Given the description of an element on the screen output the (x, y) to click on. 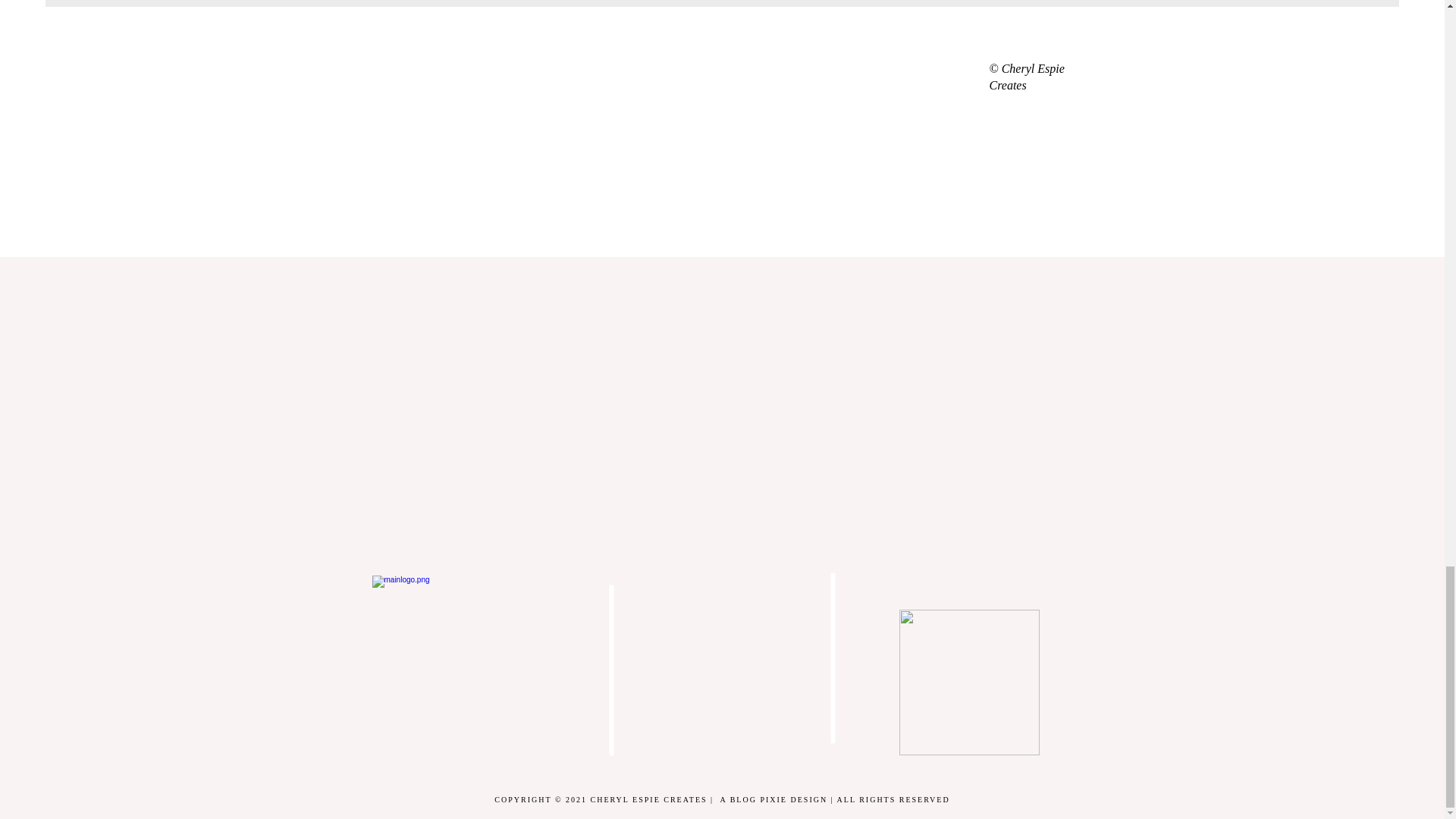
BLOG PIXIE (758, 799)
